Given the description of an element on the screen output the (x, y) to click on. 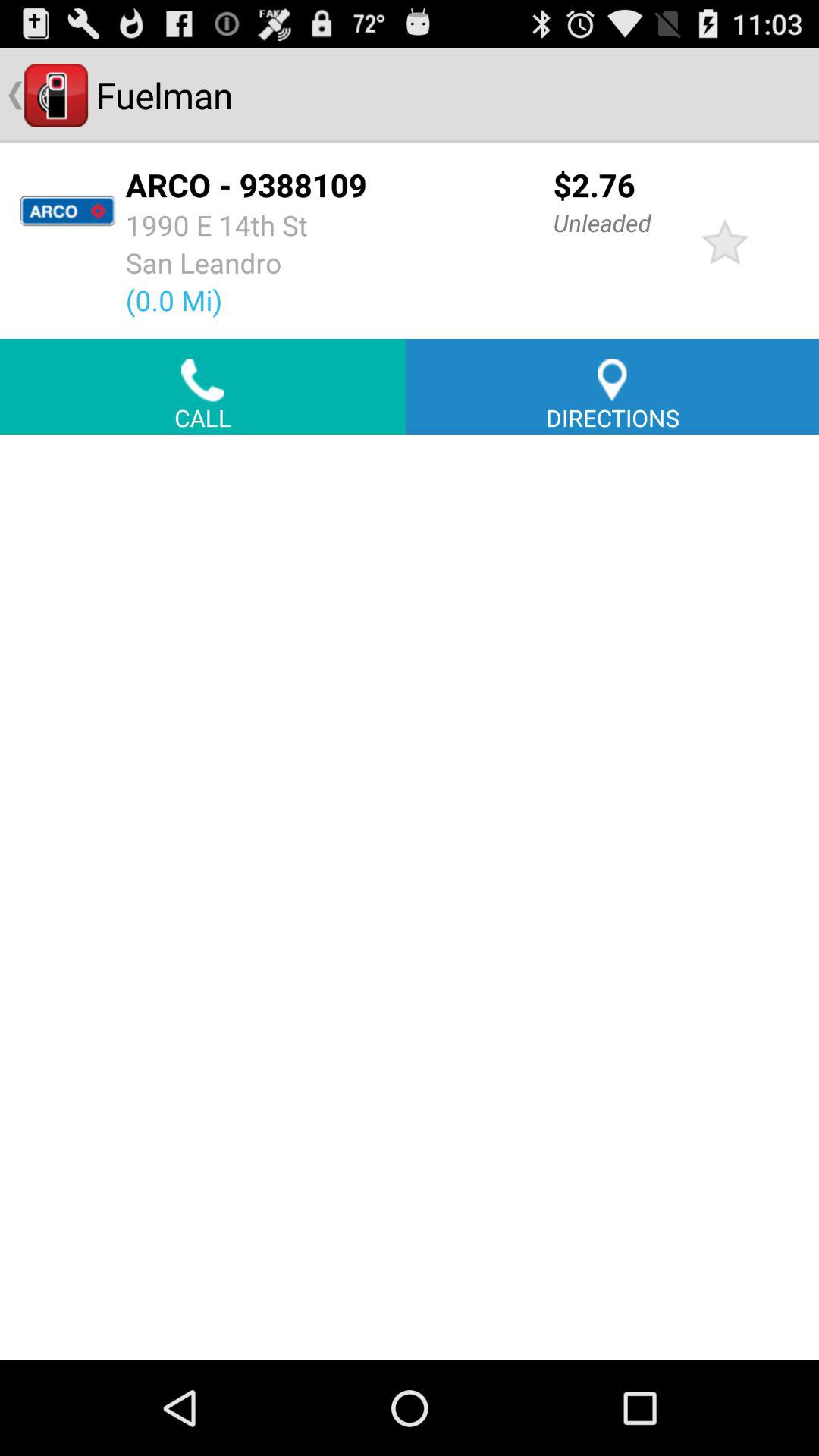
click to blank option (409, 897)
